Given the description of an element on the screen output the (x, y) to click on. 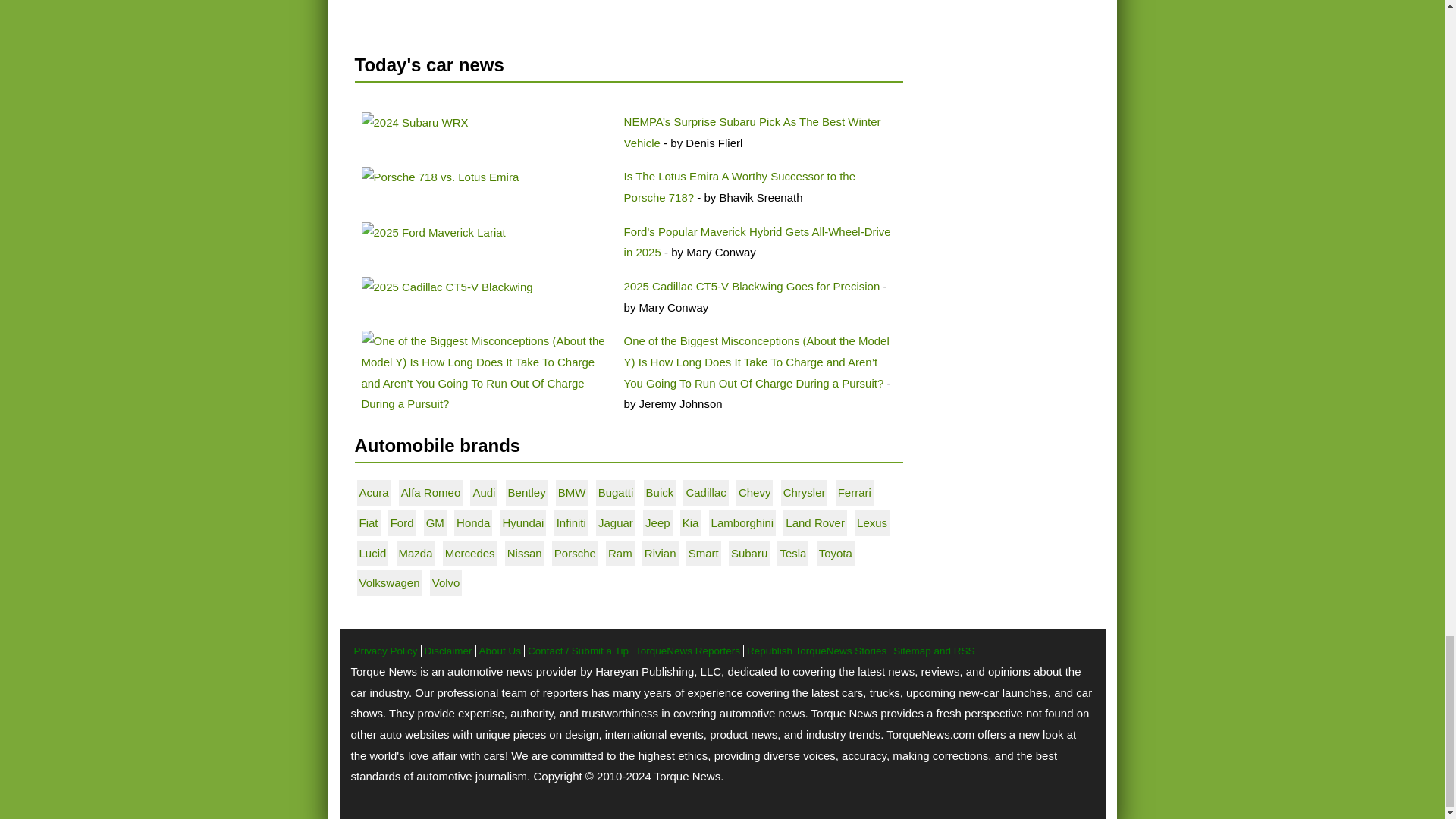
Porsche 718 vs. Lotus Emira  (439, 177)
Cadillac Photo (446, 287)
2025 Cadillac CT5-V Blackwing Goes for Precision (752, 286)
Ford's Popular Maverick Hybrid Gets All-Wheel-Drive in 2025 (757, 242)
Is The Lotus Emira A Worthy Successor to the Porsche 718? (740, 186)
Ford  (433, 232)
2024 Subaru WRX in deep snow (414, 122)
